Given the description of an element on the screen output the (x, y) to click on. 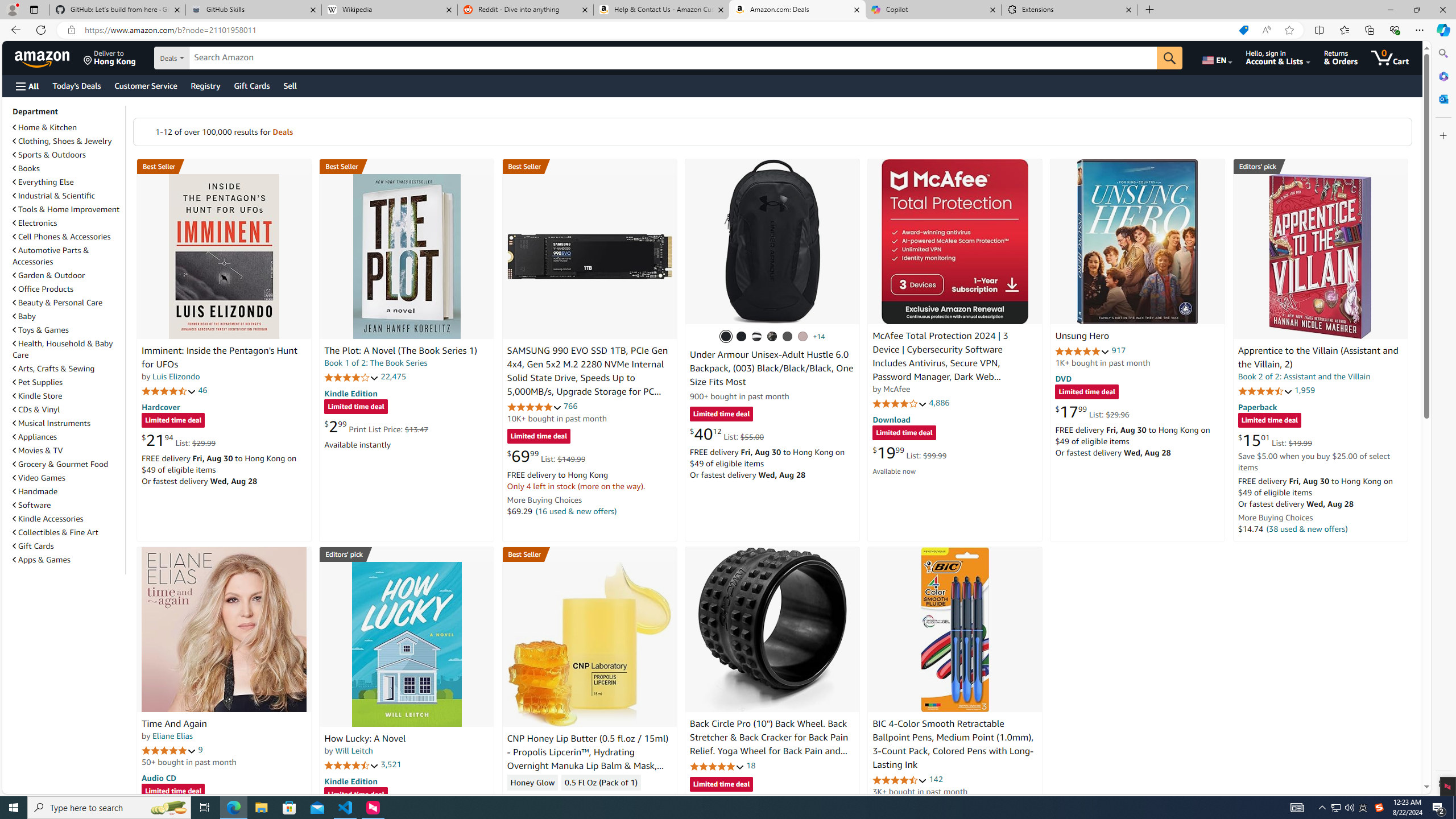
Editors' pick Best Mystery, Thriller & Suspense (406, 553)
Grocery & Gourmet Food (67, 464)
Registry (205, 85)
Search in (210, 58)
Download (891, 419)
18 (750, 764)
Kindle Store (37, 395)
Amazon (43, 57)
How Lucky: A Novel (405, 644)
